Given the description of an element on the screen output the (x, y) to click on. 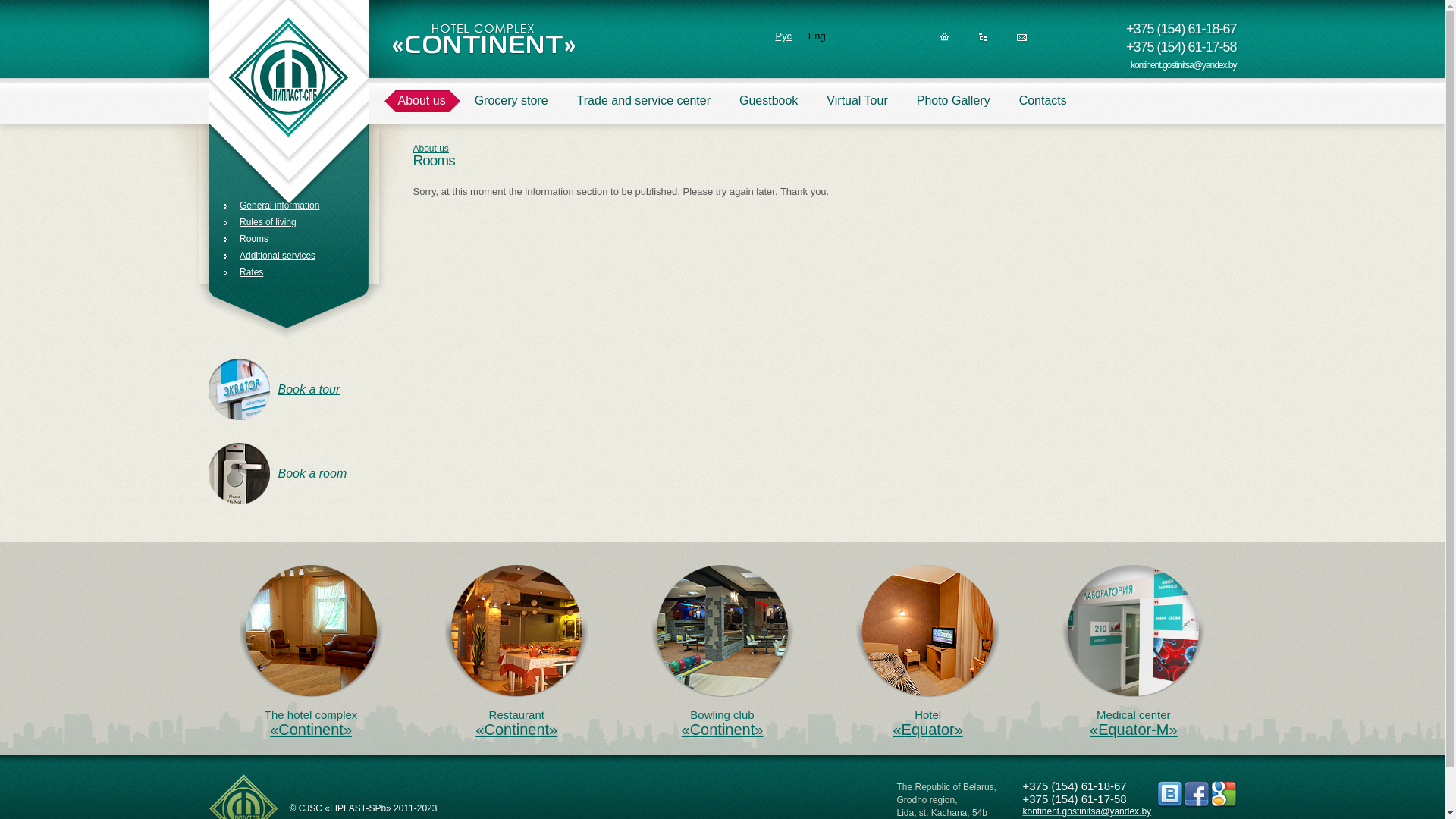
Virtual Tour Element type: text (856, 107)
kontinent.gostinitsa@yandex.by Element type: text (1183, 64)
Rooms Element type: text (246, 238)
Contacts Element type: text (1042, 107)
kontinent.gostinitsa@yandex.by Element type: text (1086, 811)
Rates Element type: text (243, 271)
Homepage Element type: text (944, 40)
Feedback Element type: text (1021, 40)
Book a room Element type: text (276, 473)
Sitemap Element type: text (982, 40)
Trade and service center Element type: text (643, 107)
Additional services Element type: text (269, 255)
Photo Gallery Element type: text (953, 107)
Guestbook Element type: text (768, 107)
General information Element type: text (271, 205)
About us Element type: text (430, 148)
About us Element type: text (421, 107)
Rules of living Element type: text (260, 221)
Grocery store Element type: text (511, 107)
Book a tour Element type: text (273, 389)
